Given the description of an element on the screen output the (x, y) to click on. 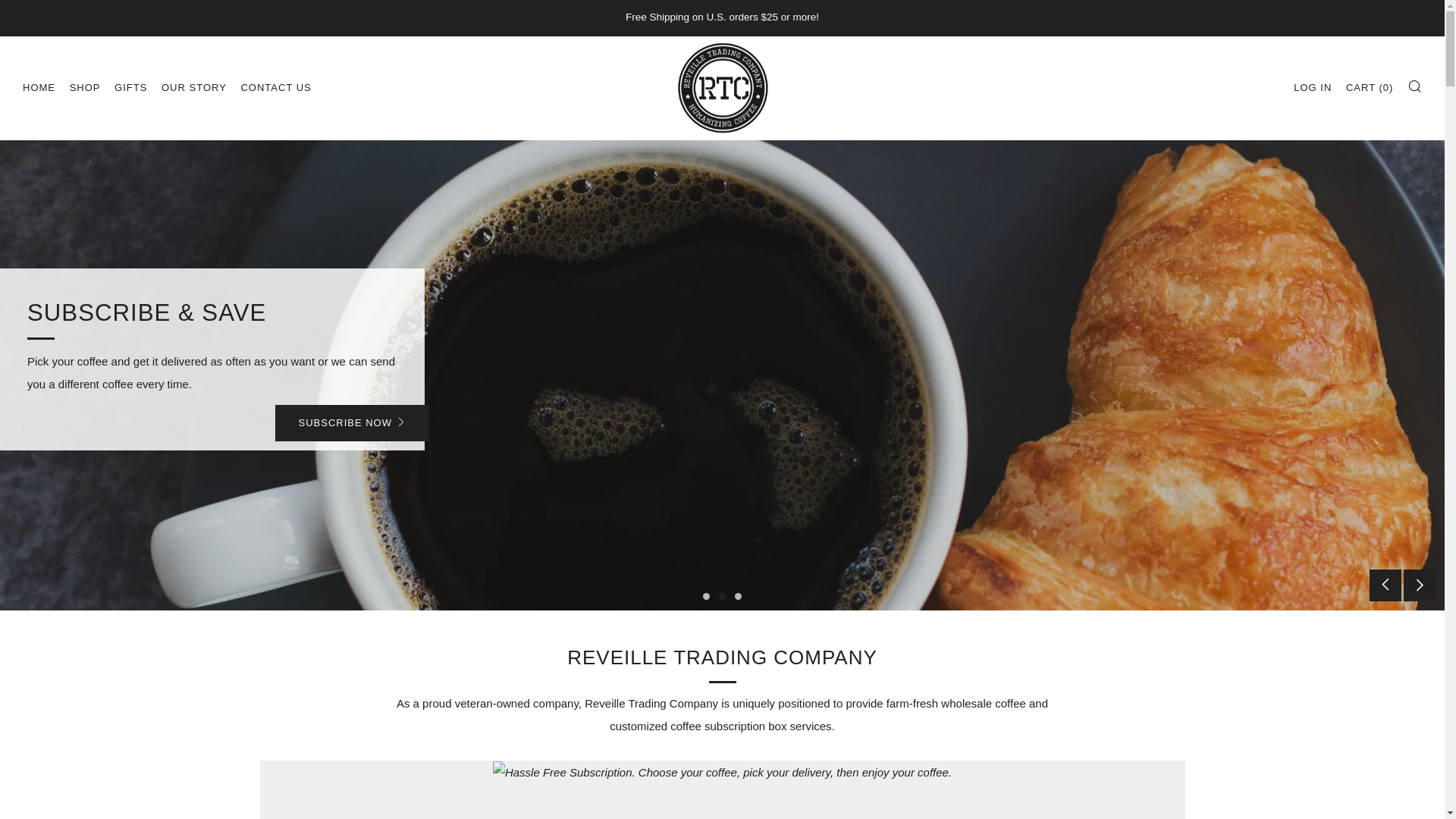
1 (706, 595)
2 (722, 595)
SEARCH (1414, 85)
3 (738, 595)
LOG IN (1313, 87)
GIFTS (131, 87)
SUBSCRIBE NOW (352, 422)
HOME (39, 87)
OUR STORY (194, 87)
CONTACT US (275, 87)
SHOP (84, 87)
